Given the description of an element on the screen output the (x, y) to click on. 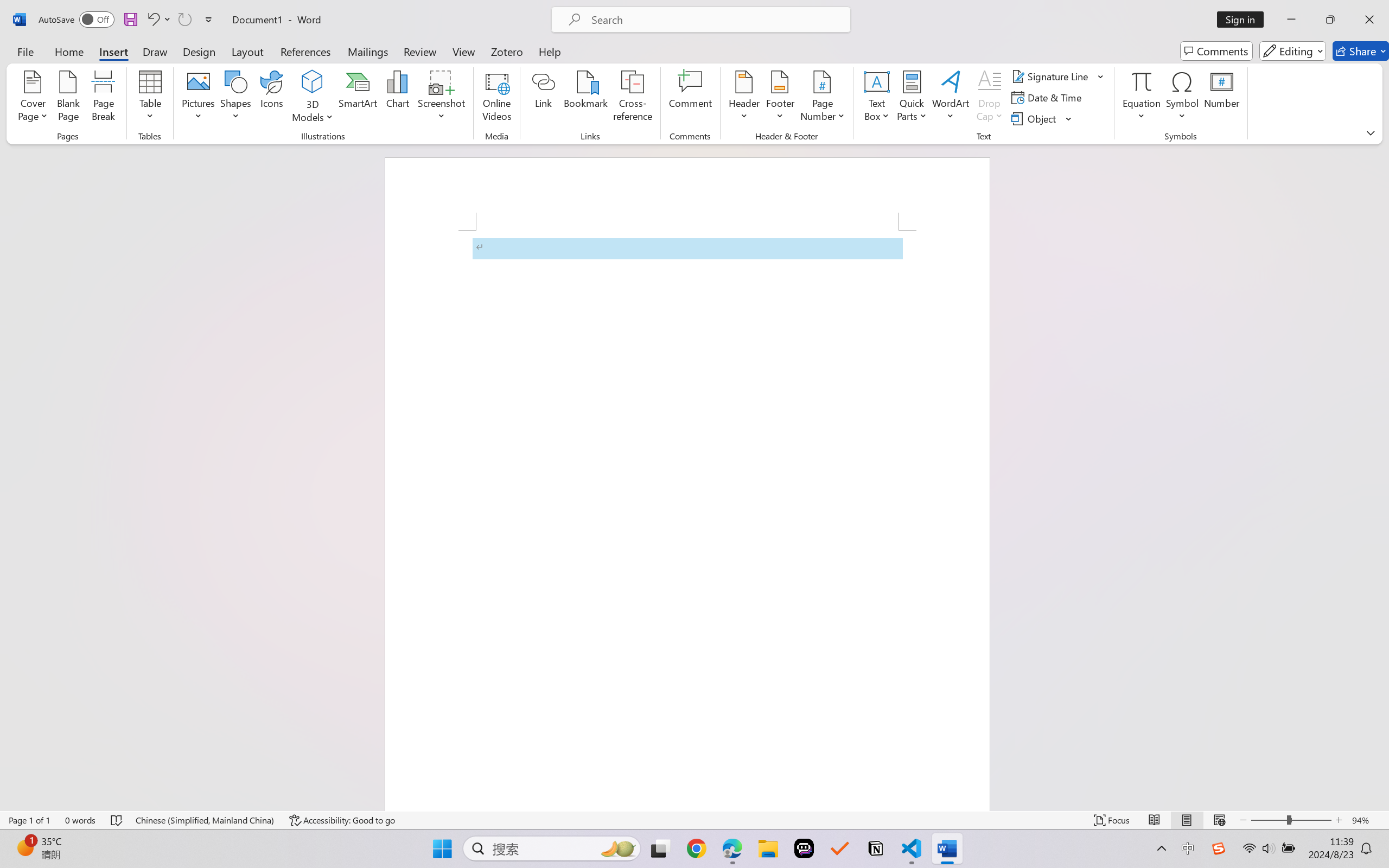
Screenshot (441, 97)
Online Videos... (496, 97)
3D Models (312, 97)
Header (743, 97)
Comment (689, 97)
Quick Parts (912, 97)
Cover Page (33, 97)
Symbol (1181, 97)
